Given the description of an element on the screen output the (x, y) to click on. 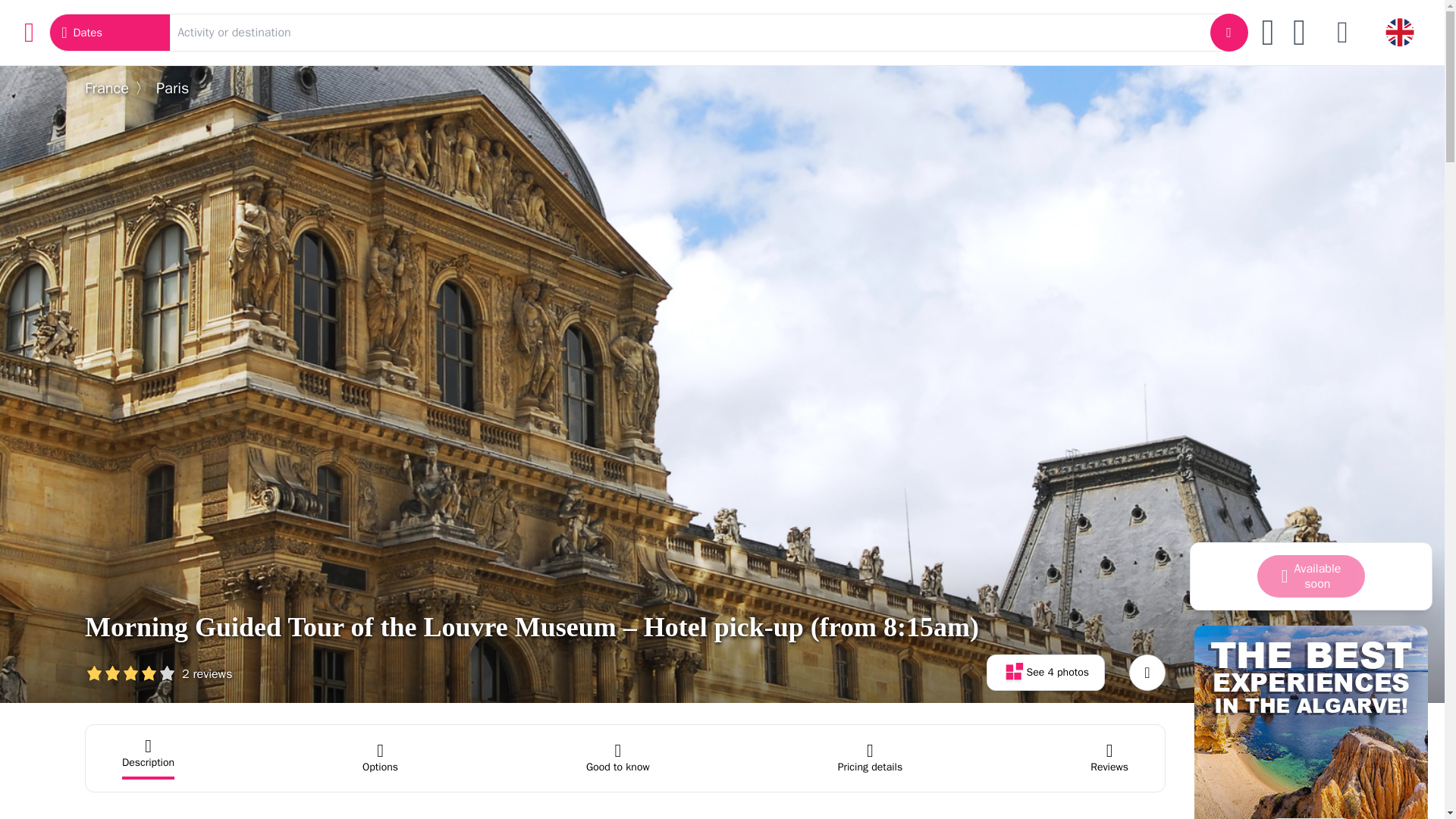
Description (148, 758)
Good to know (617, 758)
Available soon (1311, 576)
Reviews (1109, 758)
France (106, 87)
Pricing details (870, 758)
Reviews (1109, 758)
Description (148, 758)
2 reviews (157, 672)
Options (379, 758)
Options (625, 757)
See 4 photos (379, 758)
Discover (1046, 672)
